Given the description of an element on the screen output the (x, y) to click on. 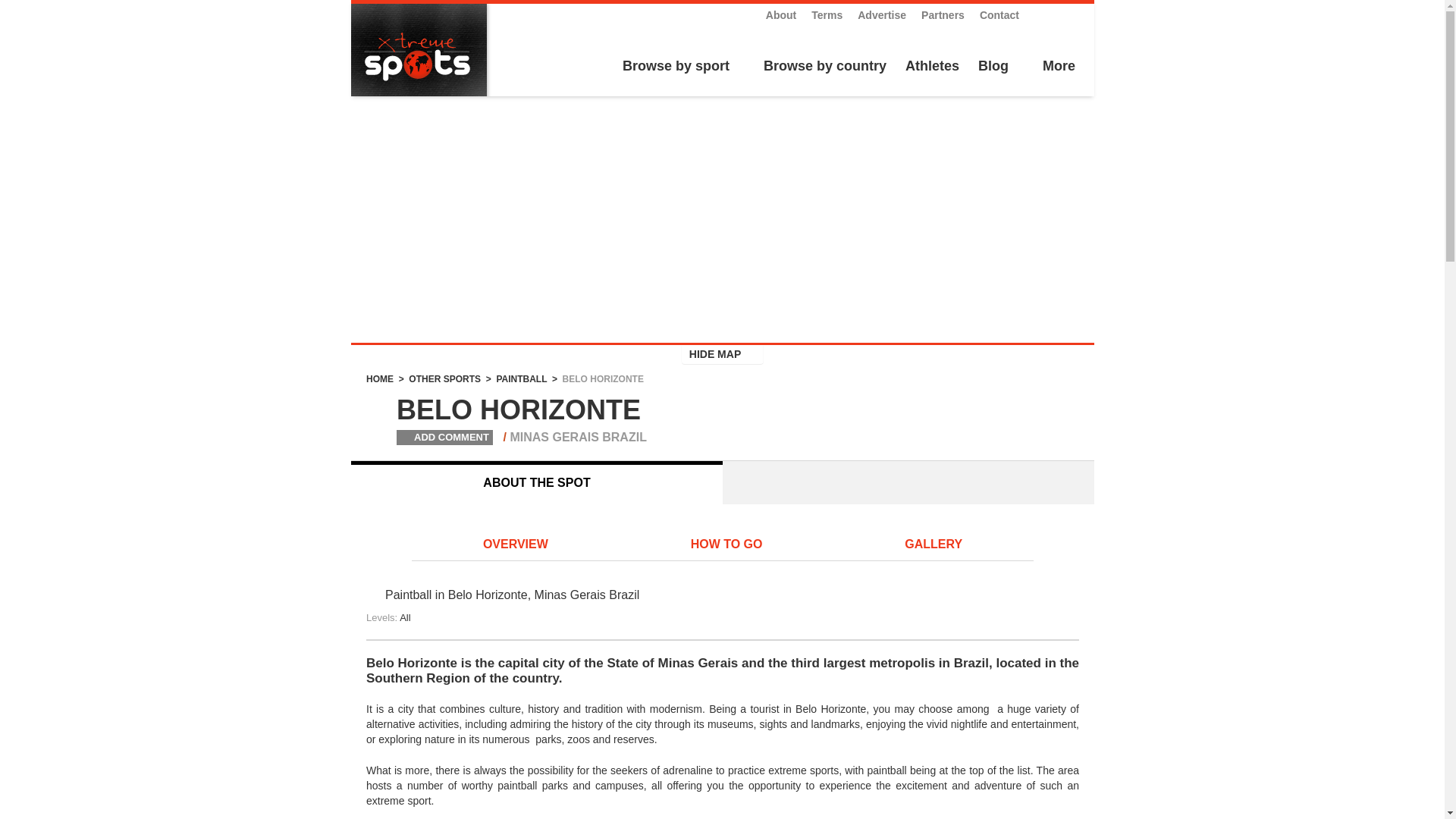
Blog (993, 67)
Advertise (881, 15)
Browse by sport (674, 67)
Athletes (932, 67)
ADD COMMENT (431, 437)
About (780, 15)
Partners (942, 15)
PAINTBALL (521, 378)
OVERVIEW (516, 545)
More (1056, 67)
